Given the description of an element on the screen output the (x, y) to click on. 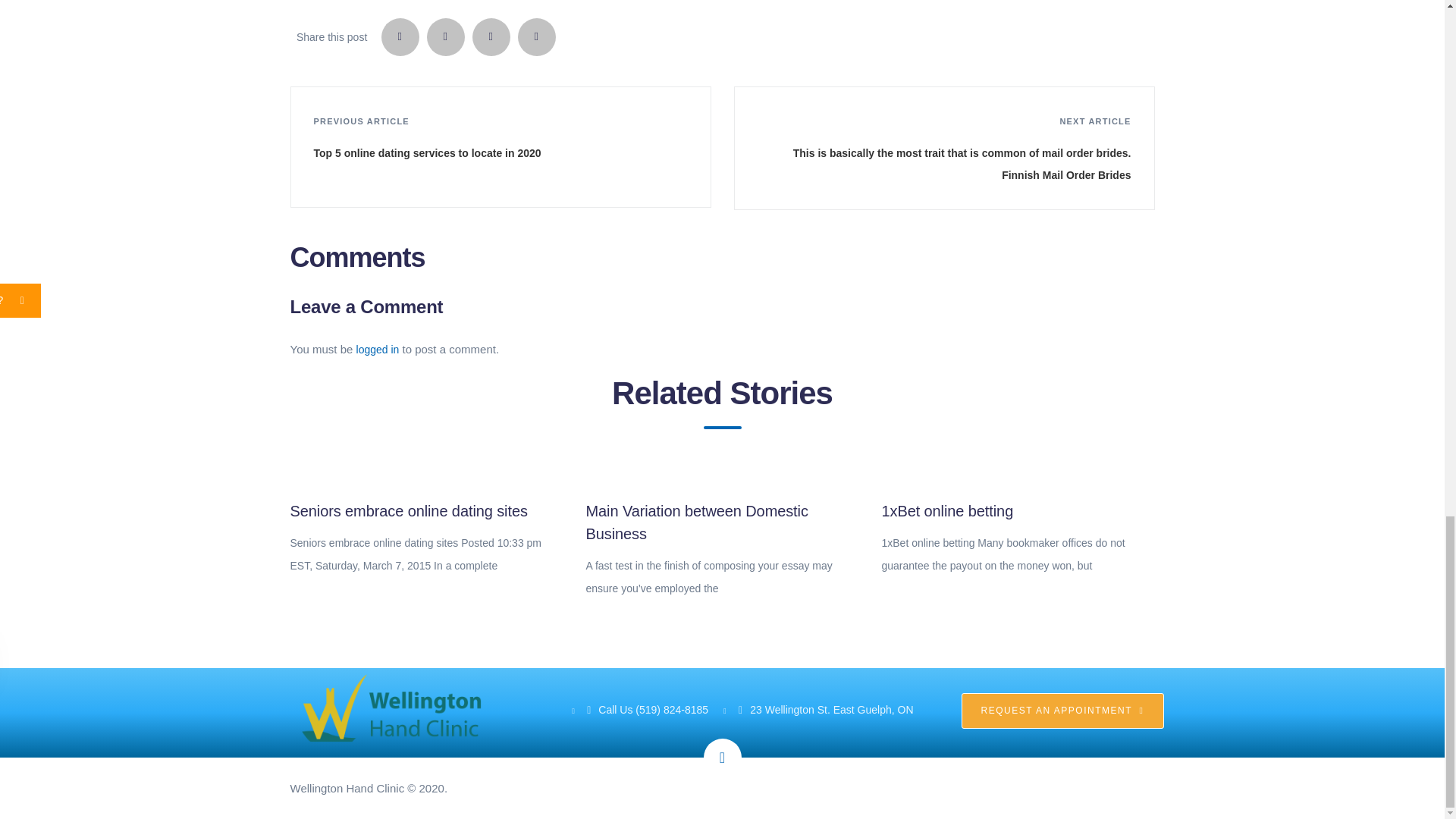
1xBet online betting (946, 510)
Seniors embrace online dating sites (408, 510)
Main Variation between Domestic Business (696, 522)
